Given the description of an element on the screen output the (x, y) to click on. 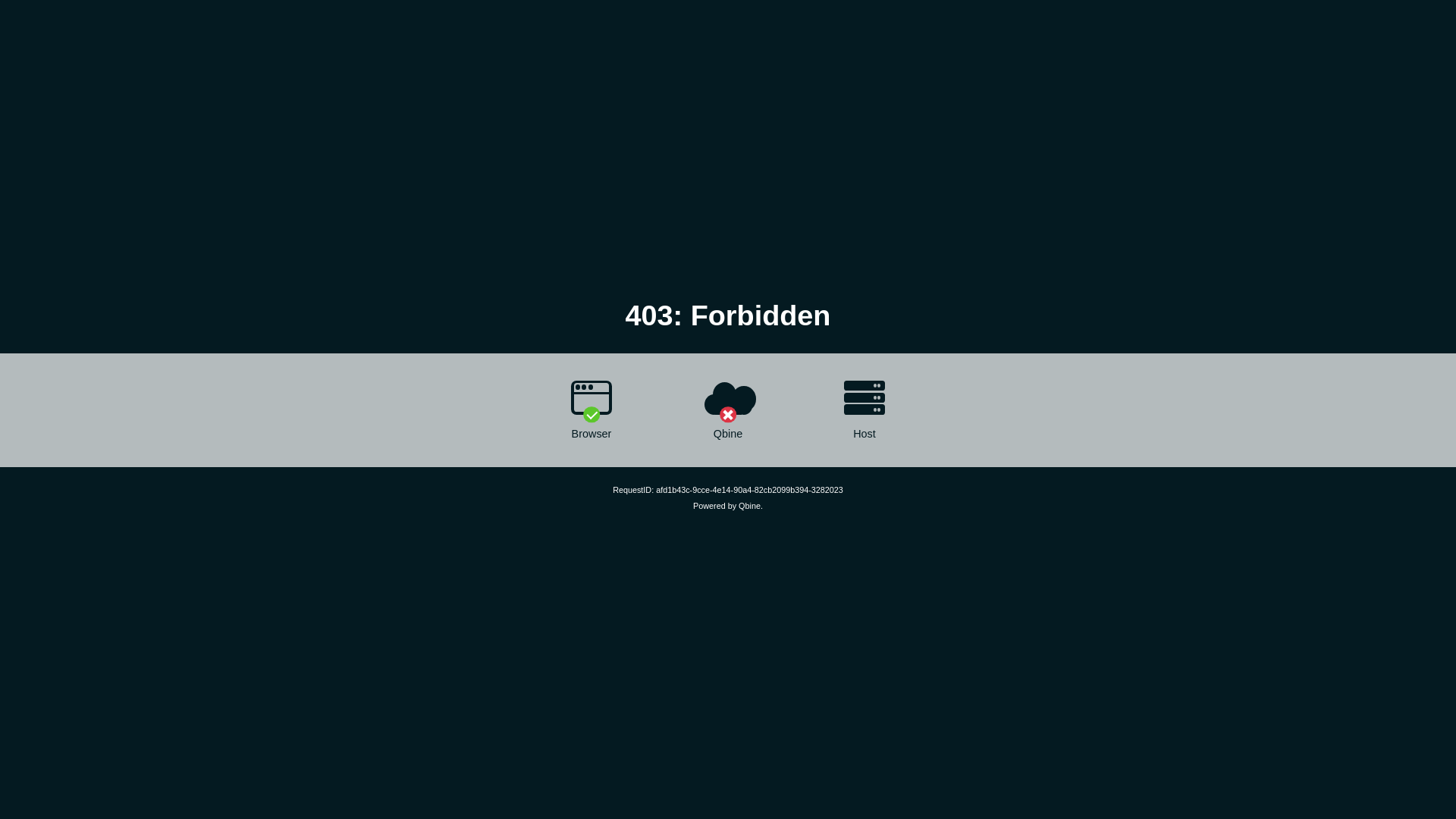
Qbine Element type: text (749, 505)
